Given the description of an element on the screen output the (x, y) to click on. 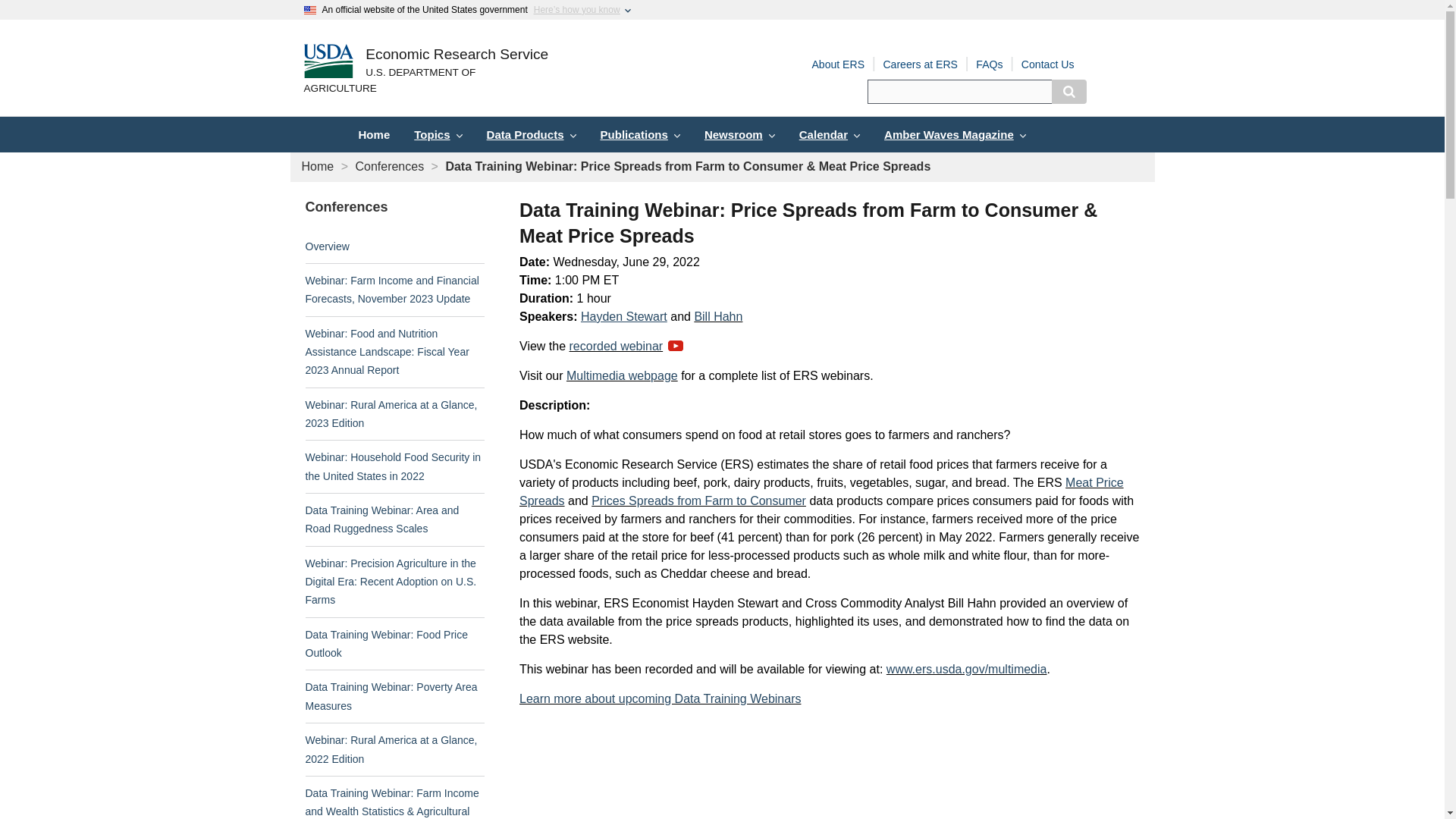
Multimedia webpage (622, 375)
Data Training Webinar: Poverty Area Measures (390, 695)
Meat Price Spreads (821, 490)
Bill Hahn (718, 316)
recorded webinar (626, 345)
Webinar: Rural America at a Glance, 2023 Edition (390, 413)
Home (373, 134)
Amber Waves Magazine (955, 134)
